Given the description of an element on the screen output the (x, y) to click on. 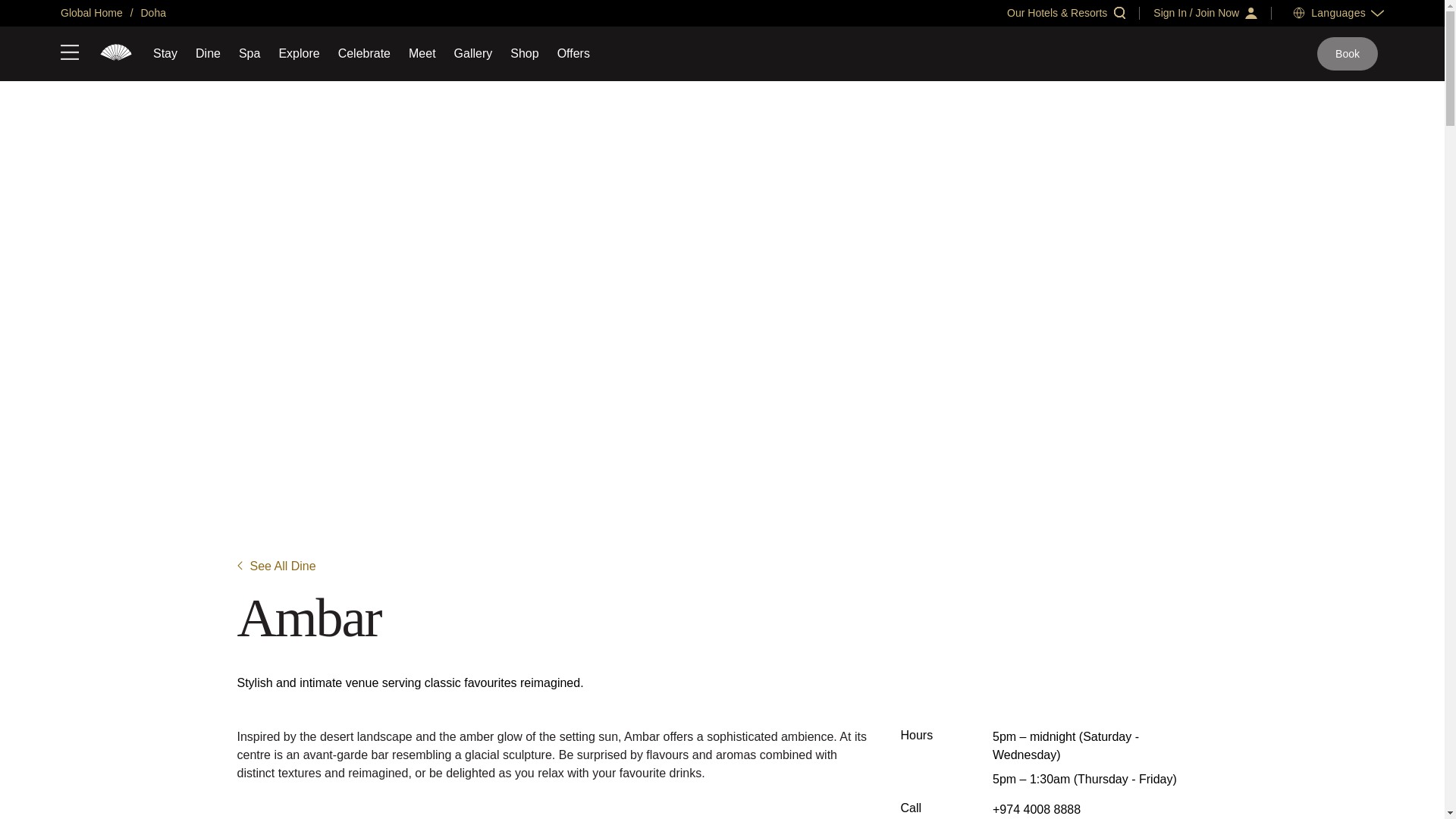
Dine (208, 52)
Global Home (91, 12)
Book (1347, 53)
Gallery (473, 52)
Offers (573, 52)
Shop (524, 52)
Stay (164, 52)
Explore (298, 52)
Meet (422, 52)
Spa (249, 52)
